Given the description of an element on the screen output the (x, y) to click on. 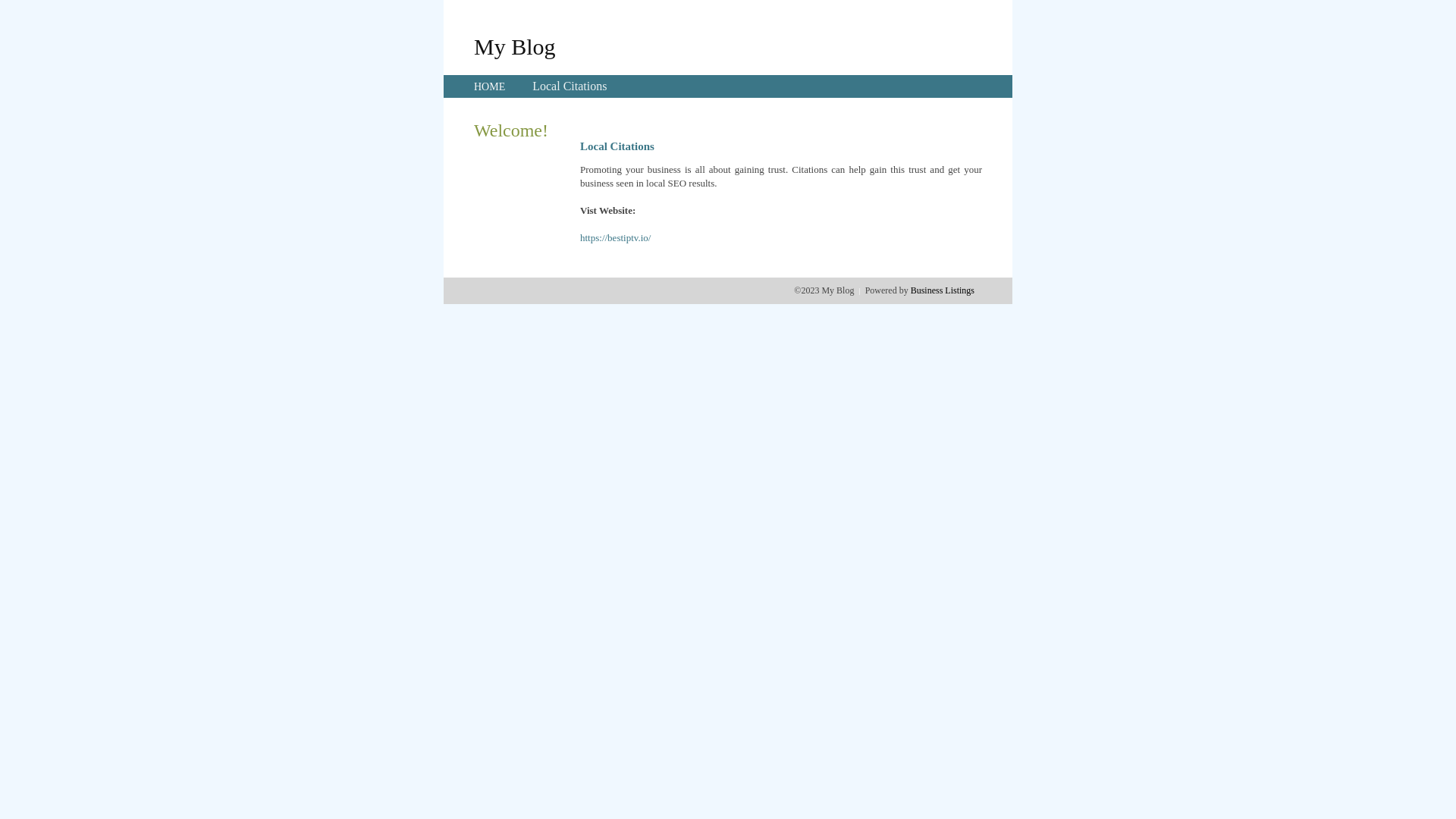
My Blog Element type: text (514, 46)
https://bestiptv.io/ Element type: text (615, 237)
Business Listings Element type: text (942, 290)
HOME Element type: text (489, 86)
Local Citations Element type: text (569, 85)
